Given the description of an element on the screen output the (x, y) to click on. 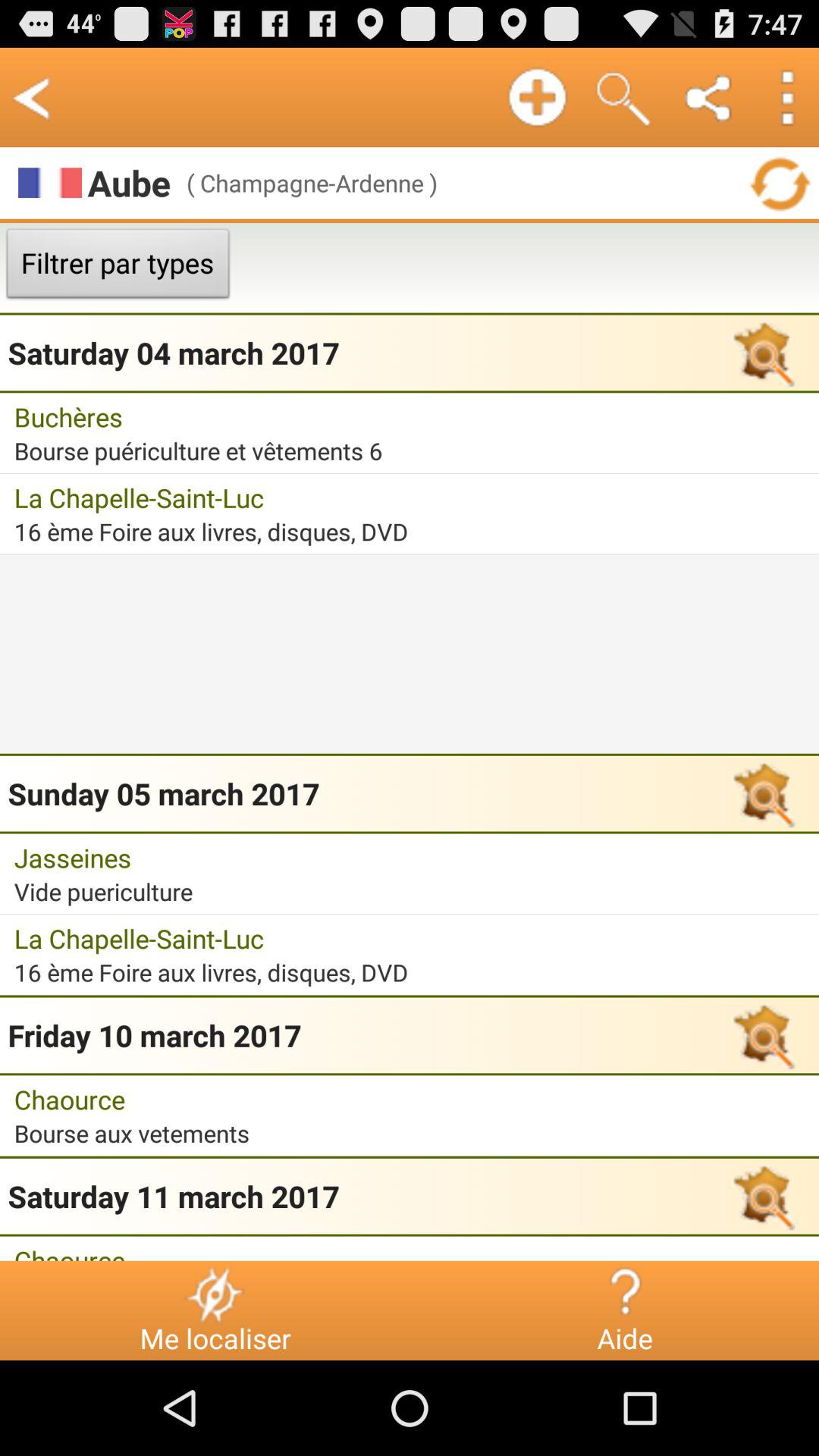
launch the app next to me localiser item (624, 1293)
